Given the description of an element on the screen output the (x, y) to click on. 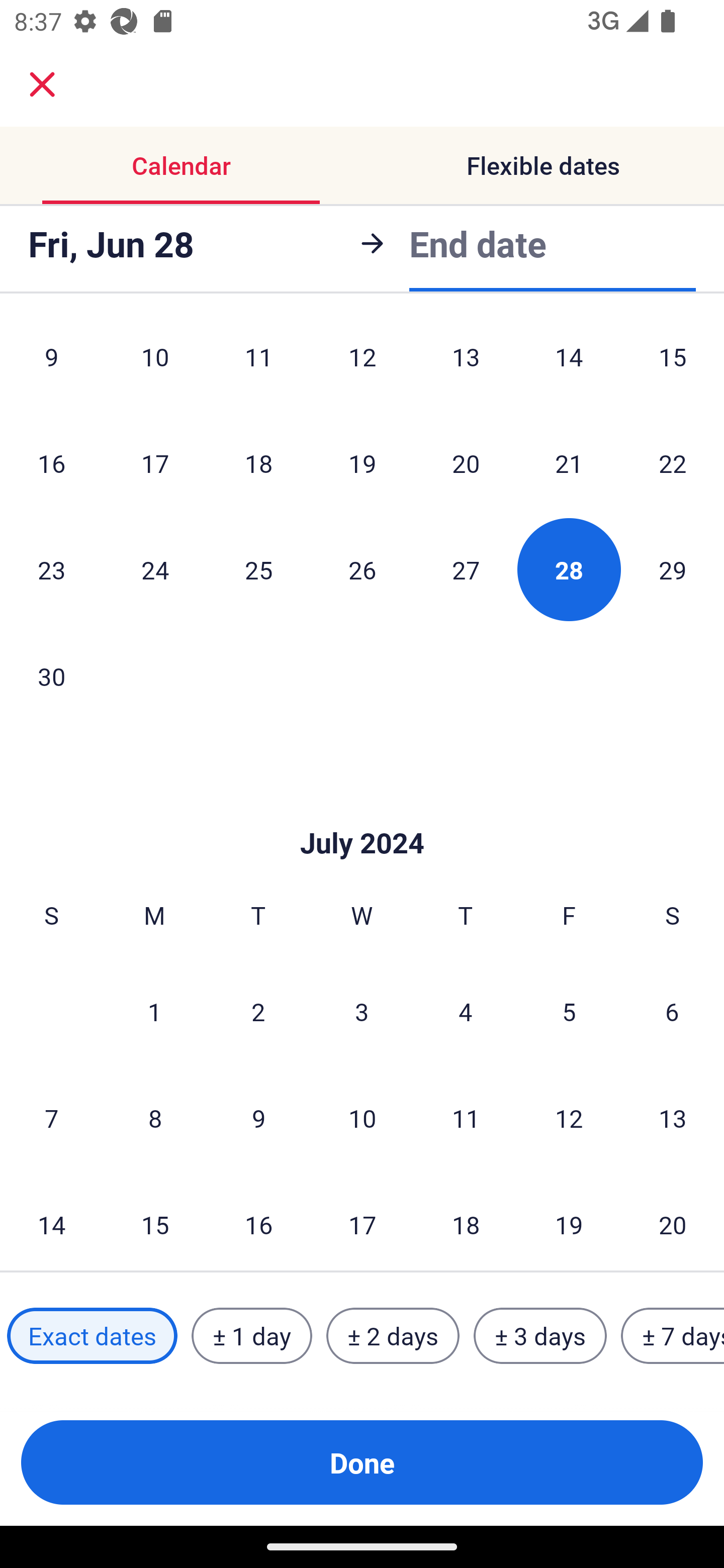
close. (42, 84)
Flexible dates (542, 164)
End date (477, 243)
9 Sunday, June 9, 2024 (51, 364)
10 Monday, June 10, 2024 (155, 364)
11 Tuesday, June 11, 2024 (258, 364)
12 Wednesday, June 12, 2024 (362, 364)
13 Thursday, June 13, 2024 (465, 364)
14 Friday, June 14, 2024 (569, 364)
15 Saturday, June 15, 2024 (672, 364)
16 Sunday, June 16, 2024 (51, 462)
17 Monday, June 17, 2024 (155, 462)
18 Tuesday, June 18, 2024 (258, 462)
19 Wednesday, June 19, 2024 (362, 462)
20 Thursday, June 20, 2024 (465, 462)
21 Friday, June 21, 2024 (569, 462)
22 Saturday, June 22, 2024 (672, 462)
23 Sunday, June 23, 2024 (51, 568)
24 Monday, June 24, 2024 (155, 568)
25 Tuesday, June 25, 2024 (258, 568)
26 Wednesday, June 26, 2024 (362, 568)
27 Thursday, June 27, 2024 (465, 568)
29 Saturday, June 29, 2024 (672, 568)
30 Sunday, June 30, 2024 (51, 675)
Skip to Done (362, 813)
1 Monday, July 1, 2024 (154, 1011)
2 Tuesday, July 2, 2024 (257, 1011)
3 Wednesday, July 3, 2024 (361, 1011)
4 Thursday, July 4, 2024 (465, 1011)
5 Friday, July 5, 2024 (568, 1011)
6 Saturday, July 6, 2024 (672, 1011)
7 Sunday, July 7, 2024 (51, 1117)
8 Monday, July 8, 2024 (155, 1117)
9 Tuesday, July 9, 2024 (258, 1117)
10 Wednesday, July 10, 2024 (362, 1117)
11 Thursday, July 11, 2024 (465, 1117)
12 Friday, July 12, 2024 (569, 1117)
13 Saturday, July 13, 2024 (672, 1117)
14 Sunday, July 14, 2024 (51, 1221)
15 Monday, July 15, 2024 (155, 1221)
16 Tuesday, July 16, 2024 (258, 1221)
17 Wednesday, July 17, 2024 (362, 1221)
18 Thursday, July 18, 2024 (465, 1221)
19 Friday, July 19, 2024 (569, 1221)
20 Saturday, July 20, 2024 (672, 1221)
Exact dates (92, 1335)
± 1 day (251, 1335)
± 2 days (392, 1335)
± 3 days (539, 1335)
± 7 days (672, 1335)
Done (361, 1462)
